Given the description of an element on the screen output the (x, y) to click on. 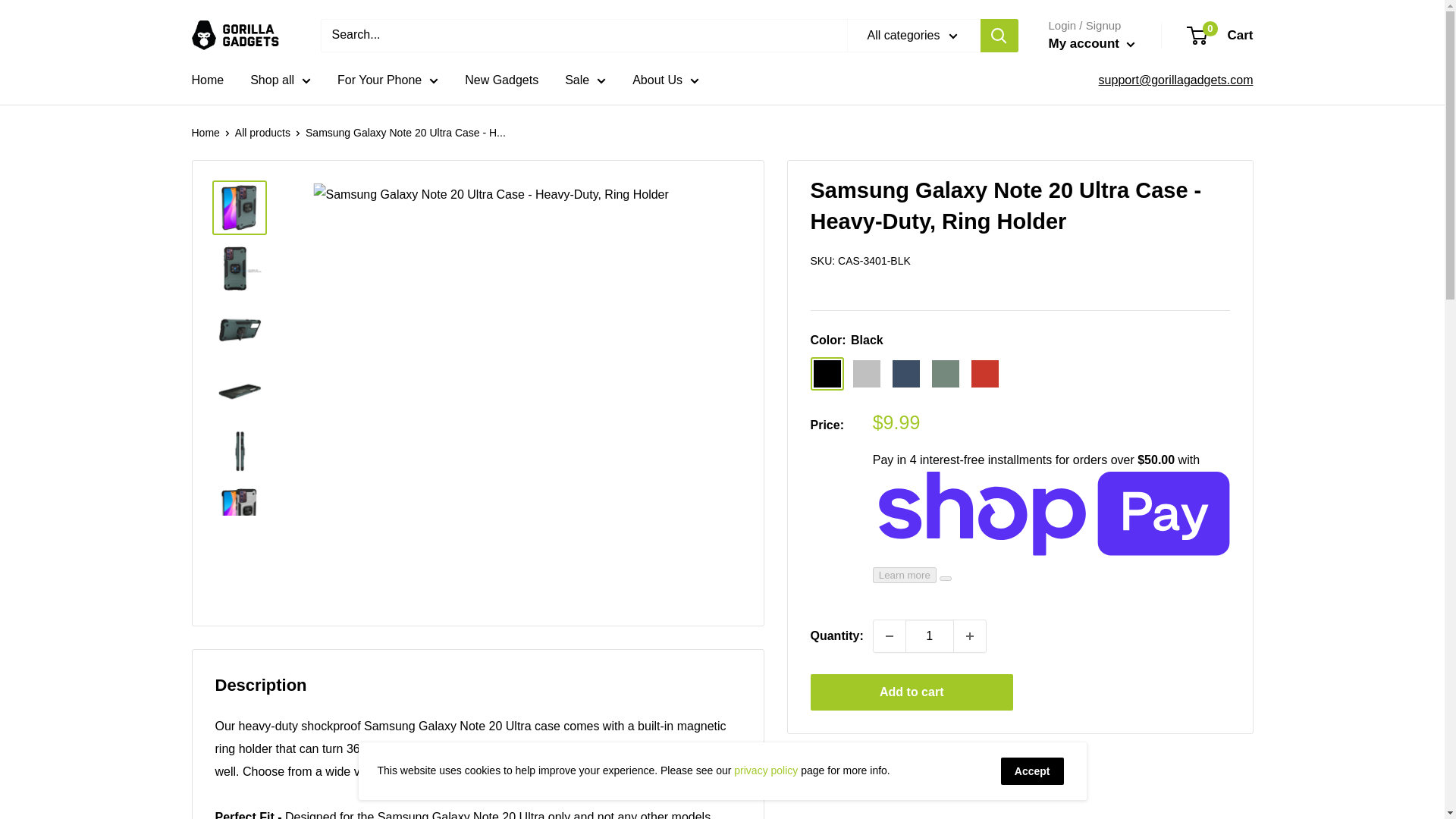
Increase quantity by 1 (969, 635)
Decrease quantity by 1 (889, 635)
Blue-Navy (904, 373)
Silver (865, 373)
1 (929, 635)
Red-Scarlet (984, 373)
Black (826, 373)
Green-Olive (944, 373)
